Given the description of an element on the screen output the (x, y) to click on. 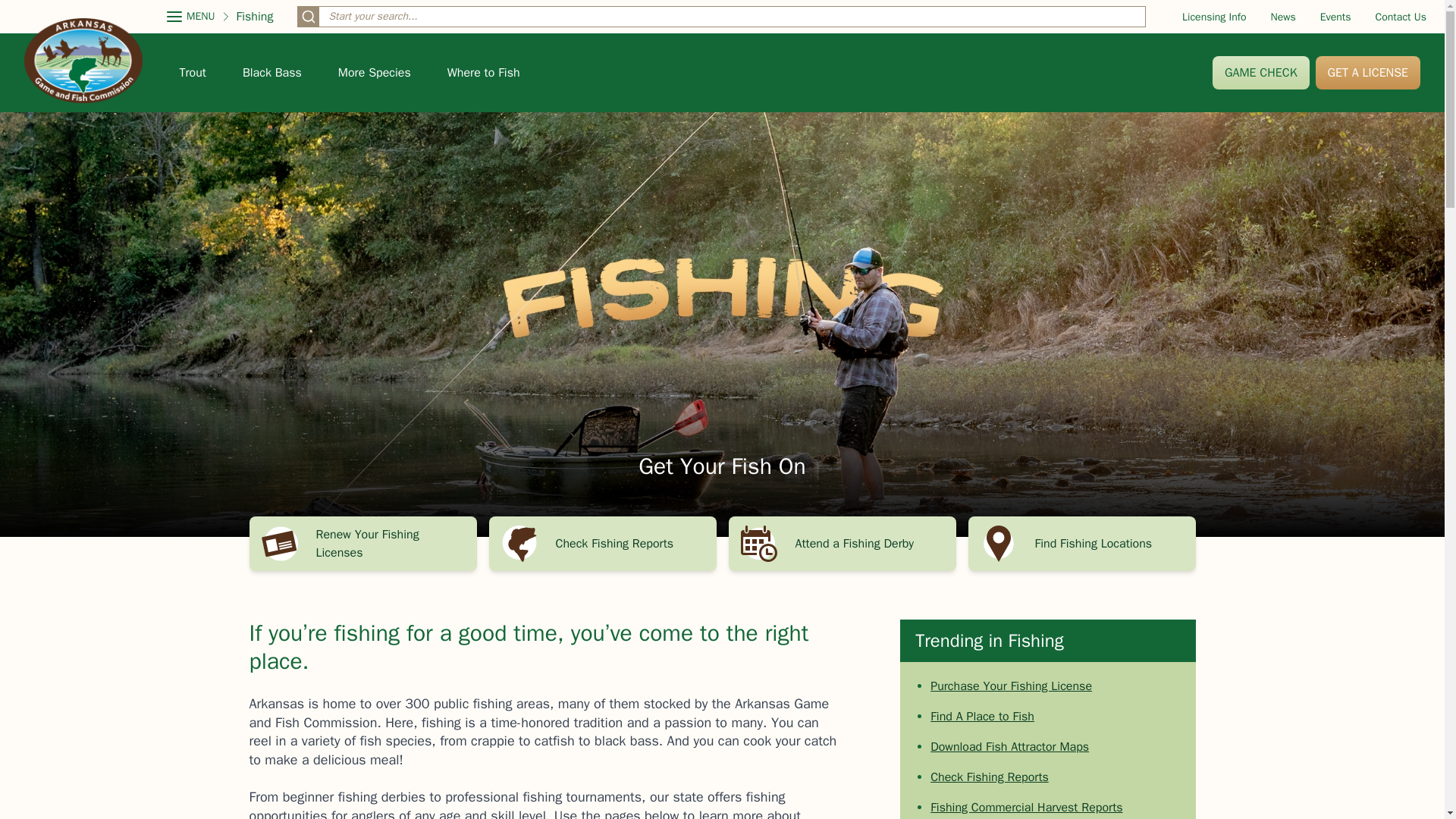
MENU (191, 16)
Black Bass (272, 72)
More Species (373, 72)
Events (1335, 16)
Submit (308, 16)
Fishing (254, 16)
GAME CHECK (1260, 72)
Licensing Info (1214, 16)
News (1283, 16)
Where to Fish (482, 72)
Trout (192, 72)
Contact Us (1400, 16)
GET A LICENSE (1368, 72)
